Given the description of an element on the screen output the (x, y) to click on. 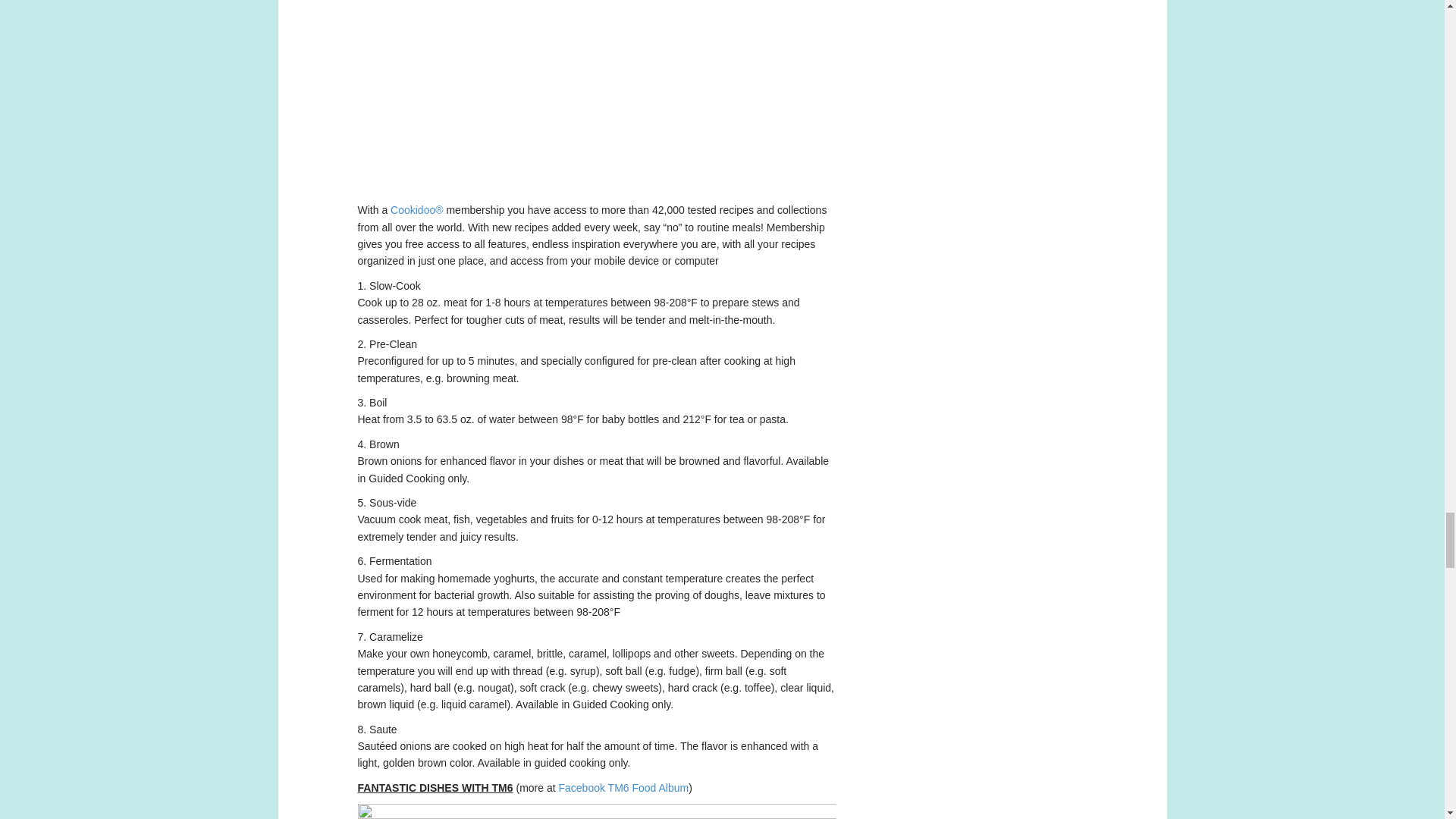
Facebook TM6 Food Album (622, 787)
